Given the description of an element on the screen output the (x, y) to click on. 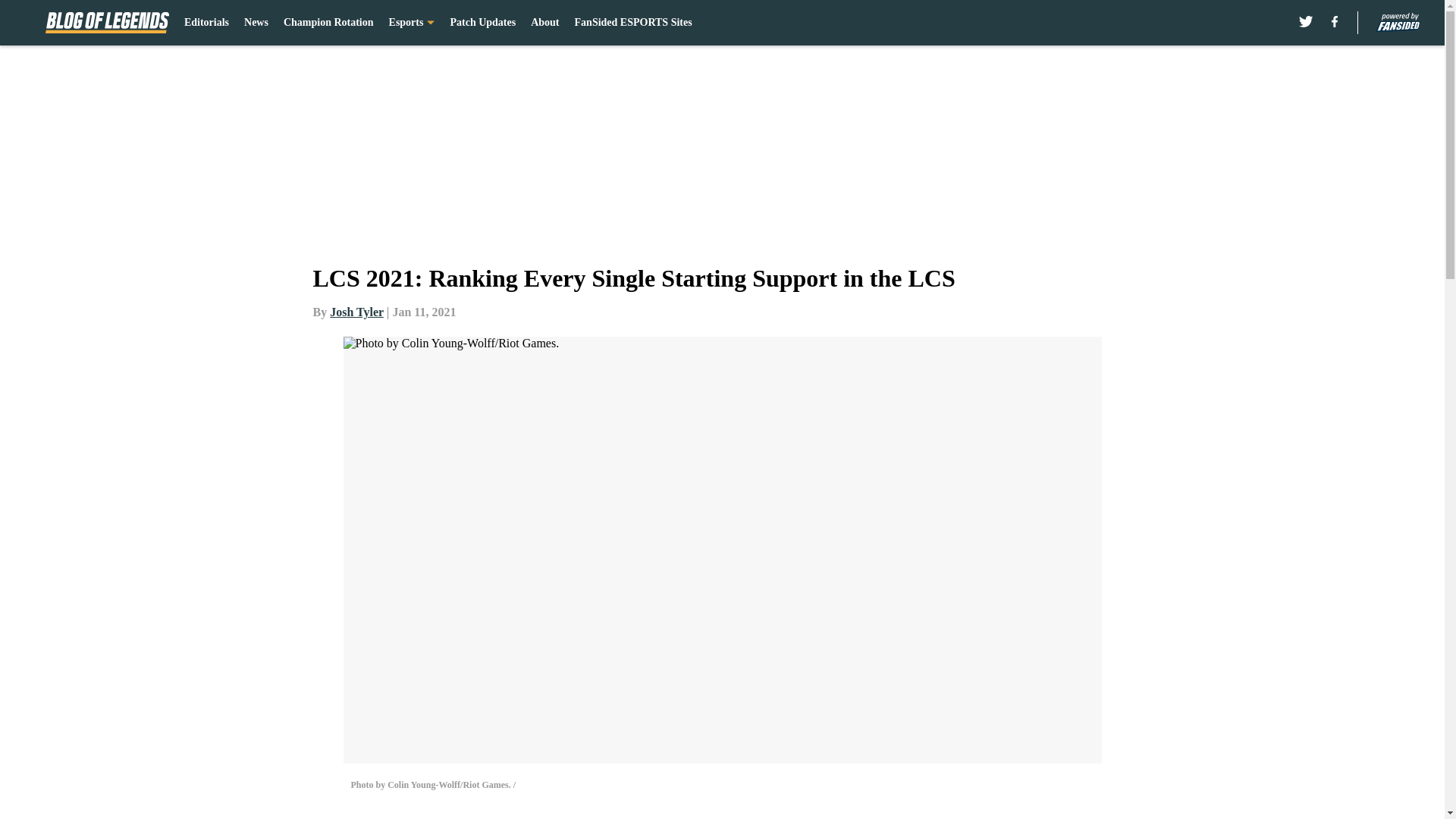
Josh Tyler (357, 311)
News (255, 22)
Editorials (206, 22)
Patch Updates (482, 22)
Champion Rotation (328, 22)
About (545, 22)
FanSided ESPORTS Sites (634, 22)
